Given the description of an element on the screen output the (x, y) to click on. 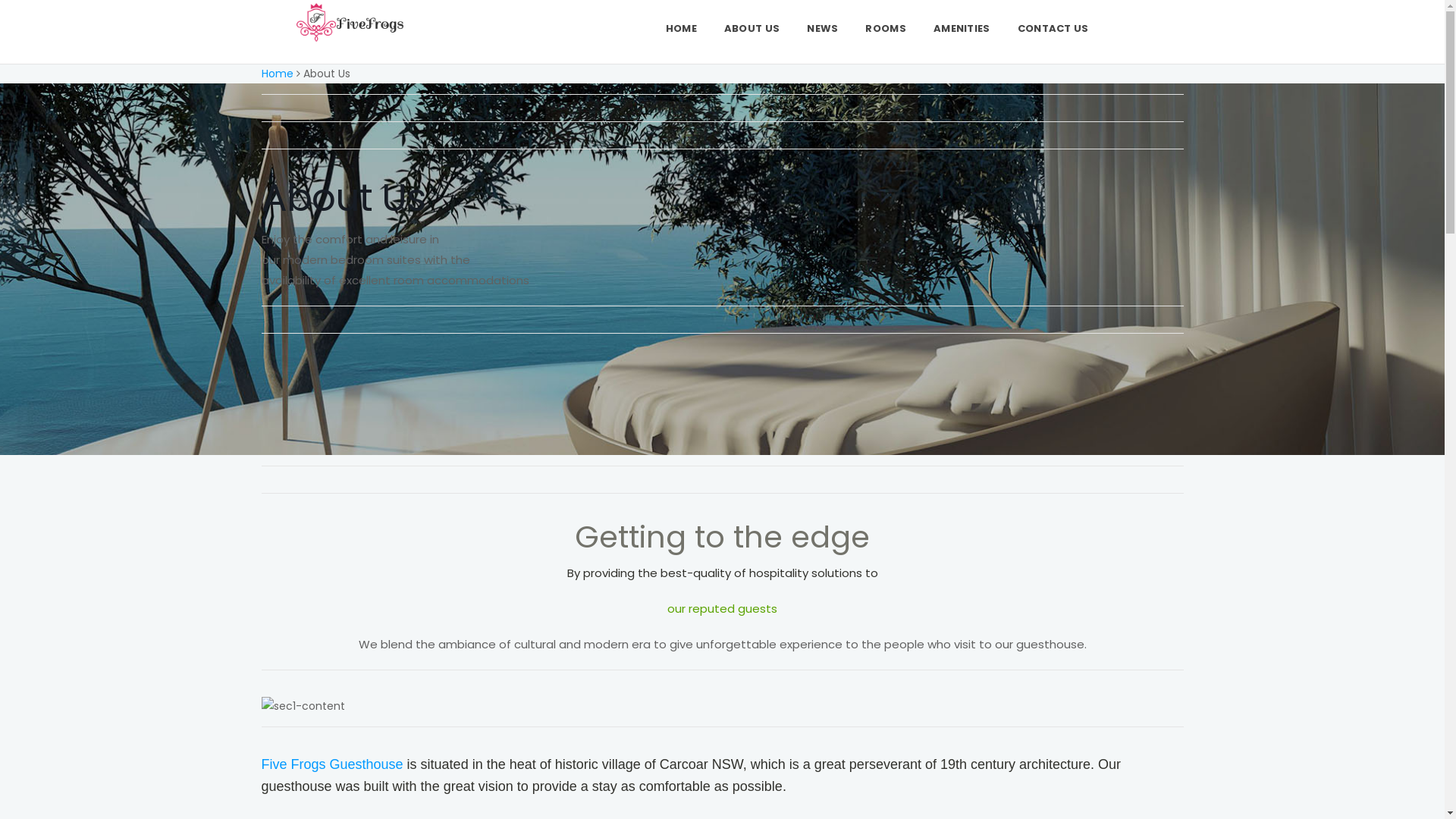
Five Frogs Guesthouse Element type: text (331, 763)
ABOUT US Element type: text (751, 28)
ROOMS Element type: text (885, 28)
CONTACT US Element type: text (1053, 28)
Home Element type: text (276, 73)
AMENITIES Element type: text (961, 28)
NEWS Element type: text (822, 28)
HOME Element type: text (681, 28)
